Given the description of an element on the screen output the (x, y) to click on. 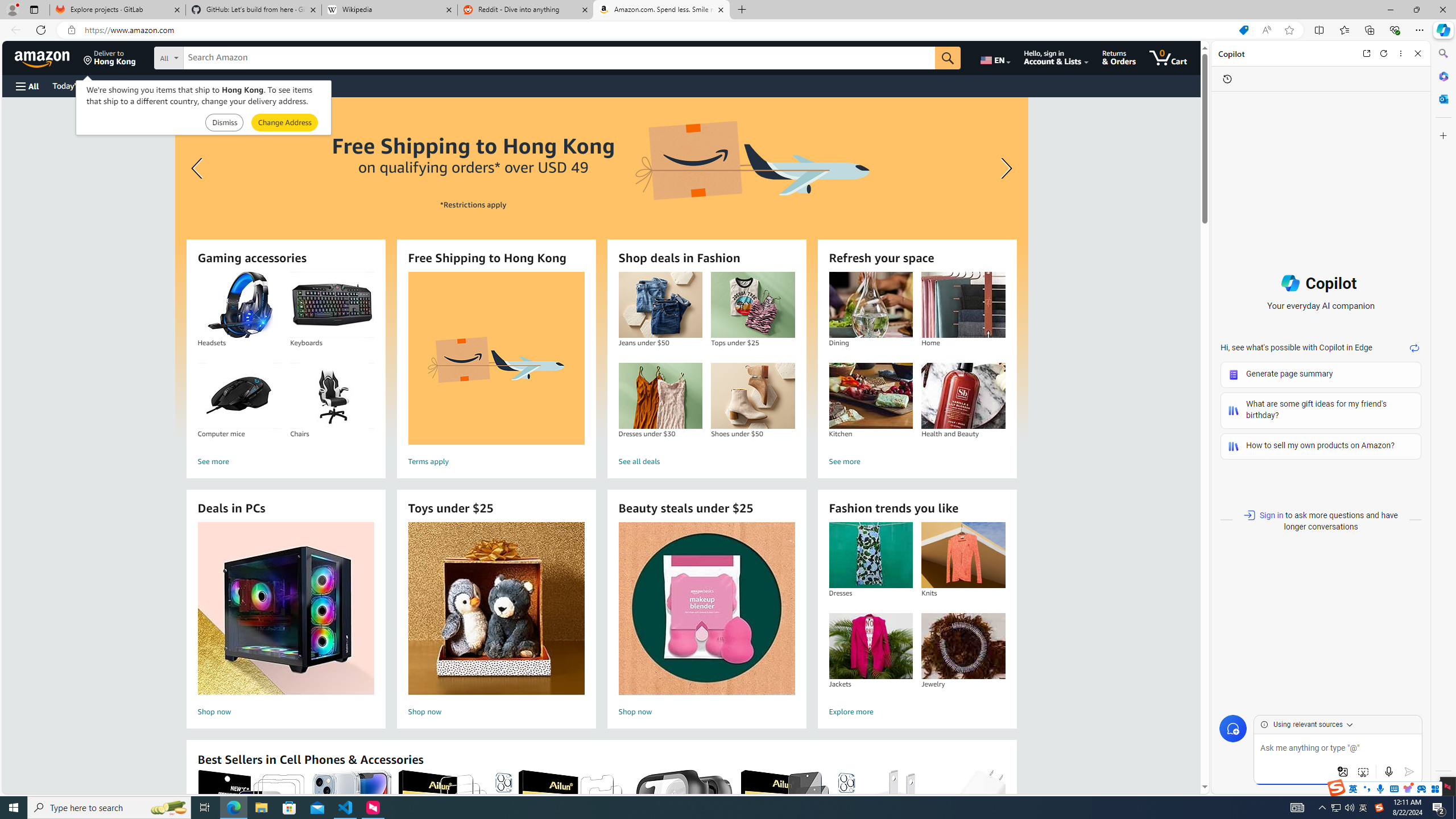
Keyboards (331, 304)
Amazon.com. Spend less. Smile more. (660, 9)
Beauty steals under $25 Shop now (706, 620)
0 items in cart (1168, 57)
Deliver to Hong Kong (109, 57)
Go (947, 57)
Today's Deals (76, 85)
See all deals (706, 461)
Knits (963, 555)
Computer mice (239, 395)
Free Shipping to Hong Kong Learn more (600, 267)
Jewelry (963, 645)
